Given the description of an element on the screen output the (x, y) to click on. 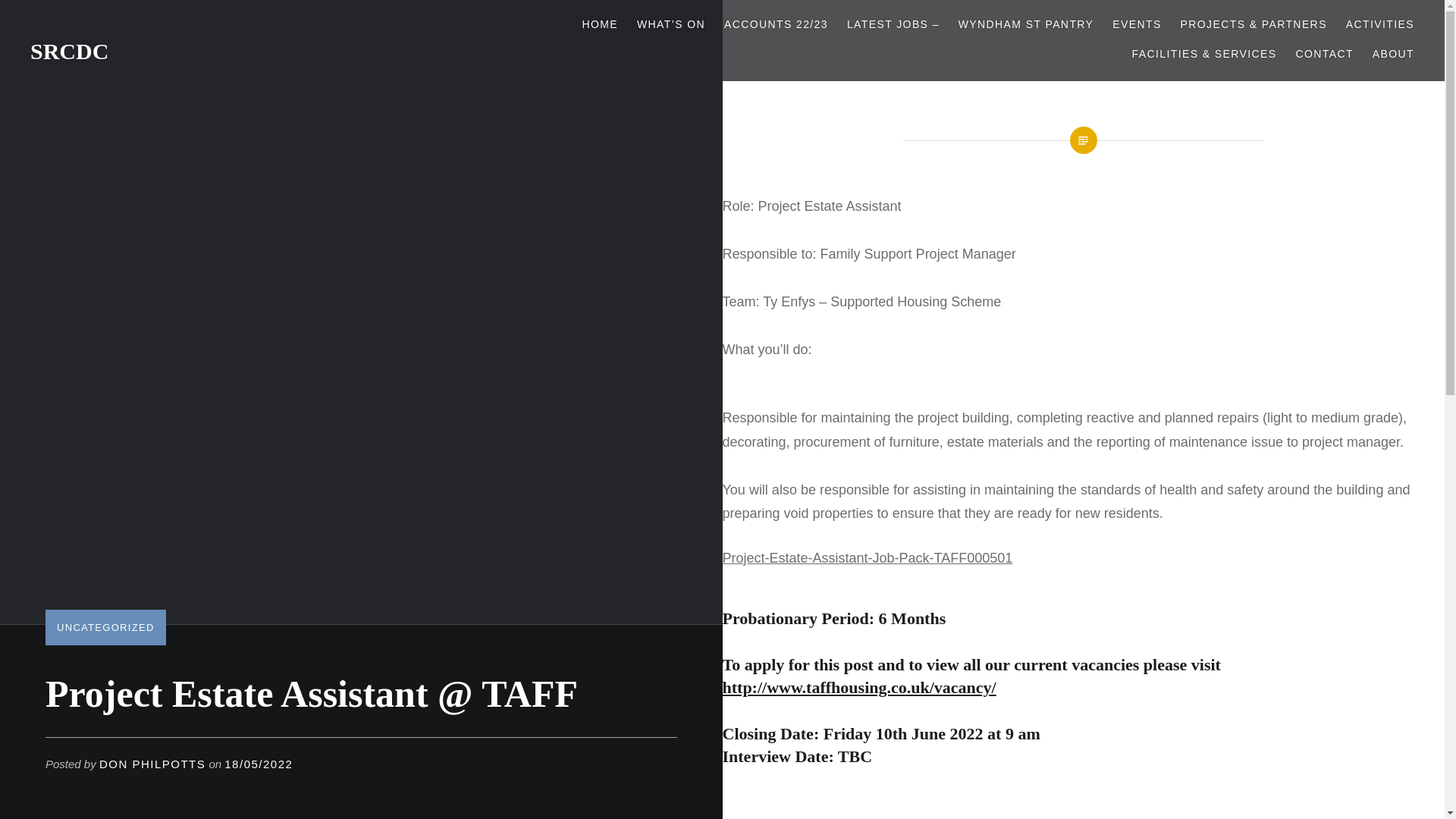
WYNDHAM ST PANTRY (1026, 24)
SRCDC (68, 50)
HOME (598, 24)
EVENTS (1136, 24)
